Given the description of an element on the screen output the (x, y) to click on. 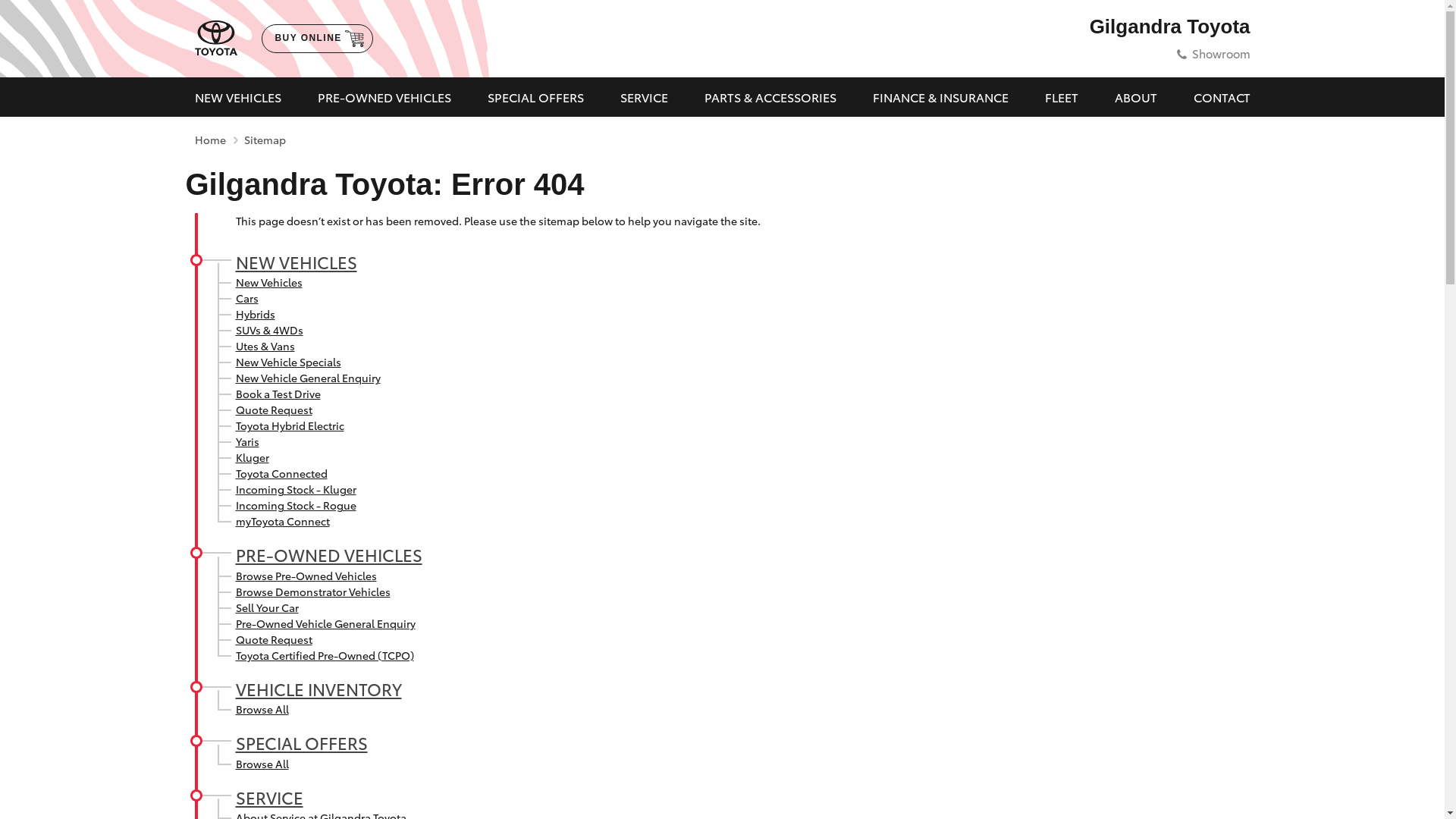
FINANCE & INSURANCE Element type: text (939, 96)
Sell Your Car Element type: text (266, 607)
ABOUT Element type: text (1135, 96)
New Vehicle Specials Element type: text (287, 361)
Cars Element type: text (246, 297)
Book a Test Drive Element type: text (277, 393)
PRE-OWNED VEHICLES Element type: text (328, 554)
Incoming Stock - Kluger Element type: text (295, 488)
New Vehicles Element type: text (268, 281)
PARTS & ACCESSORIES Element type: text (769, 96)
SERVICE Element type: text (268, 796)
NEW VEHICLES Element type: text (237, 96)
Gilgandra Toyota Element type: text (1169, 26)
myToyota Connect Element type: text (282, 520)
Showroom Element type: text (1221, 52)
SUVs & 4WDs Element type: text (268, 329)
Kluger Element type: text (251, 456)
Browse Pre-Owned Vehicles Element type: text (305, 575)
Toyota Connected Element type: text (280, 472)
Home Element type: text (209, 139)
CONTACT Element type: text (1221, 96)
Hybrids Element type: text (254, 313)
Toyota Certified Pre-Owned (TCPO) Element type: text (324, 654)
Quote Request Element type: text (273, 638)
Toyota Hybrid Electric Element type: text (289, 425)
PRE-OWNED VEHICLES Element type: text (383, 96)
Sitemap Element type: text (264, 139)
NEW VEHICLES Element type: text (295, 261)
Browse Demonstrator Vehicles Element type: text (312, 591)
SPECIAL OFFERS Element type: text (534, 96)
SPECIAL OFFERS Element type: text (301, 742)
Yaris Element type: text (246, 440)
FLEET Element type: text (1061, 96)
Quote Request Element type: text (273, 409)
Browse All Element type: text (261, 708)
Pre-Owned Vehicle General Enquiry Element type: text (324, 622)
VEHICLE INVENTORY Element type: text (318, 688)
Utes & Vans Element type: text (264, 345)
BUY ONLINE Element type: text (316, 38)
Incoming Stock - Rogue Element type: text (295, 504)
New Vehicle General Enquiry Element type: text (307, 377)
SERVICE Element type: text (644, 96)
Browse All Element type: text (261, 763)
